Given the description of an element on the screen output the (x, y) to click on. 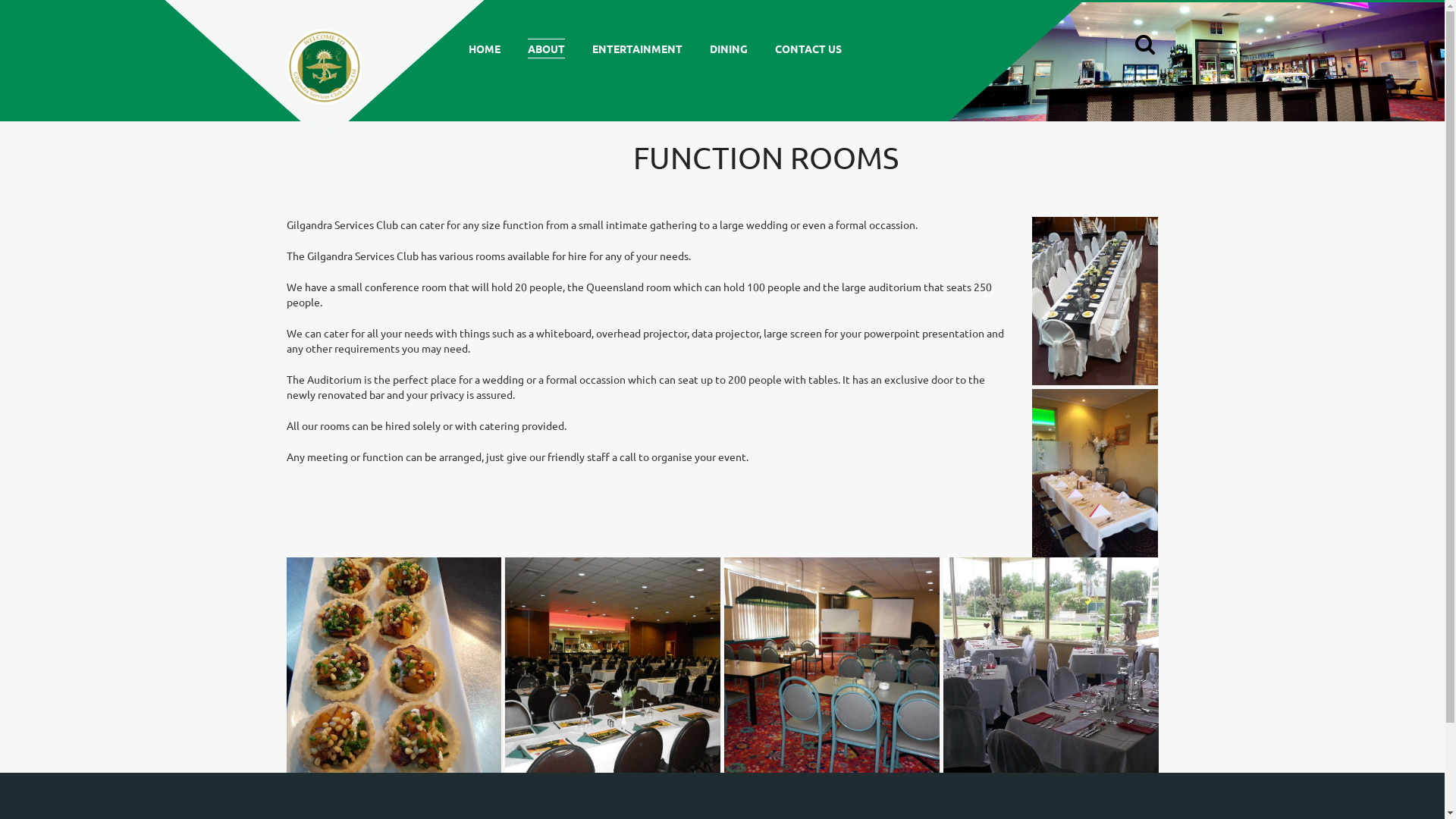
ABOUT Element type: text (546, 48)
decorx2 Element type: hover (1095, 300)
canapes Element type: hover (394, 664)
DINING Element type: text (728, 48)
CONTACT US Element type: text (807, 48)
Open/close search form Element type: hover (1143, 46)
Valentines-day-2 Element type: hover (1050, 664)
ENTERTAINMENT Element type: text (636, 48)
decor Element type: hover (1095, 473)
p1000580 Element type: hover (831, 664)
wedding-21 Element type: hover (612, 664)
HOME Element type: text (484, 48)
